Given the description of an element on the screen output the (x, y) to click on. 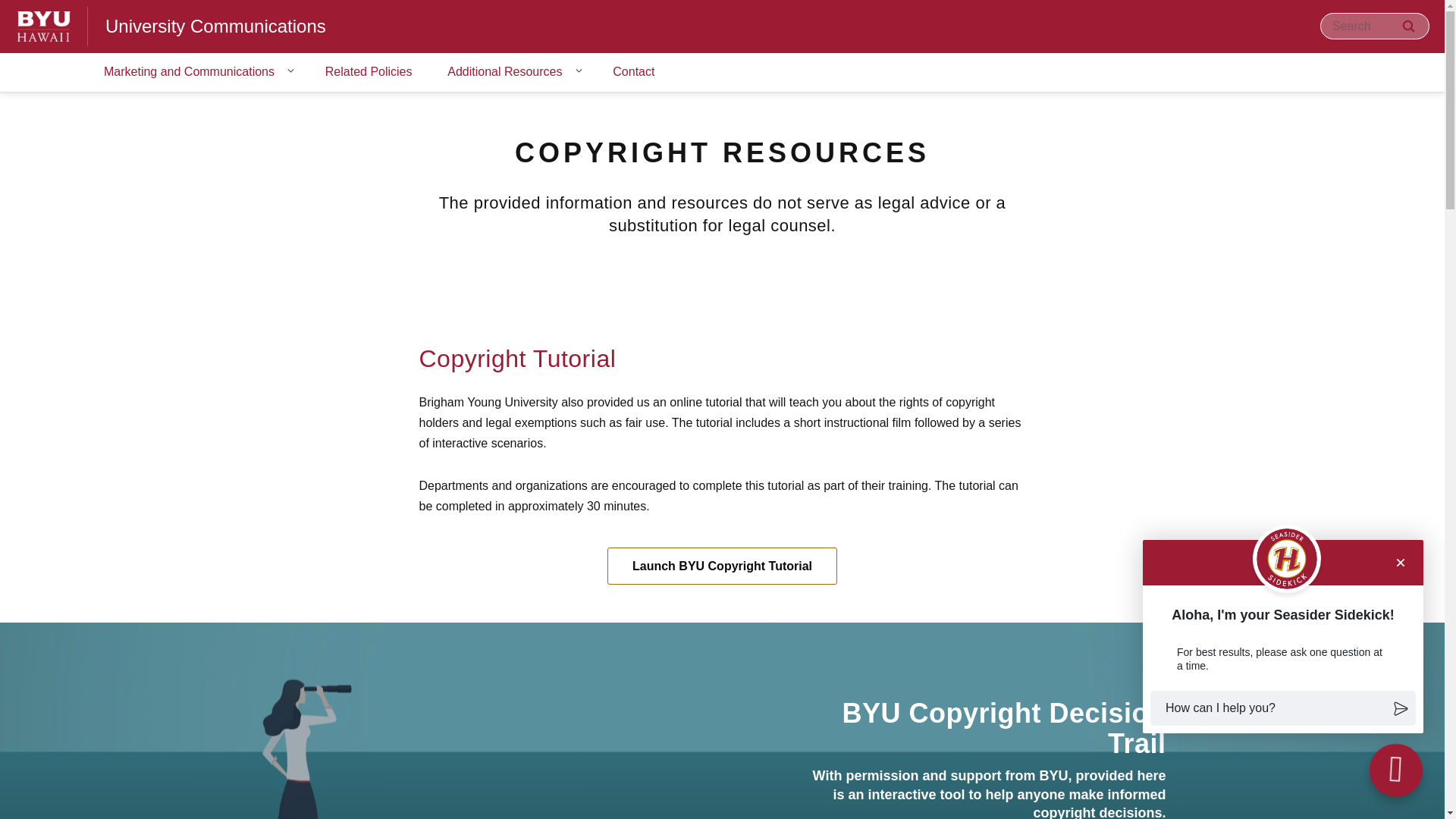
University Communications (215, 25)
Launch BYU Copyright Tutorial (722, 565)
Contact (633, 73)
Search (1408, 26)
Related Policies (368, 73)
BYU Copyright Decision Trail (1003, 728)
